Given the description of an element on the screen output the (x, y) to click on. 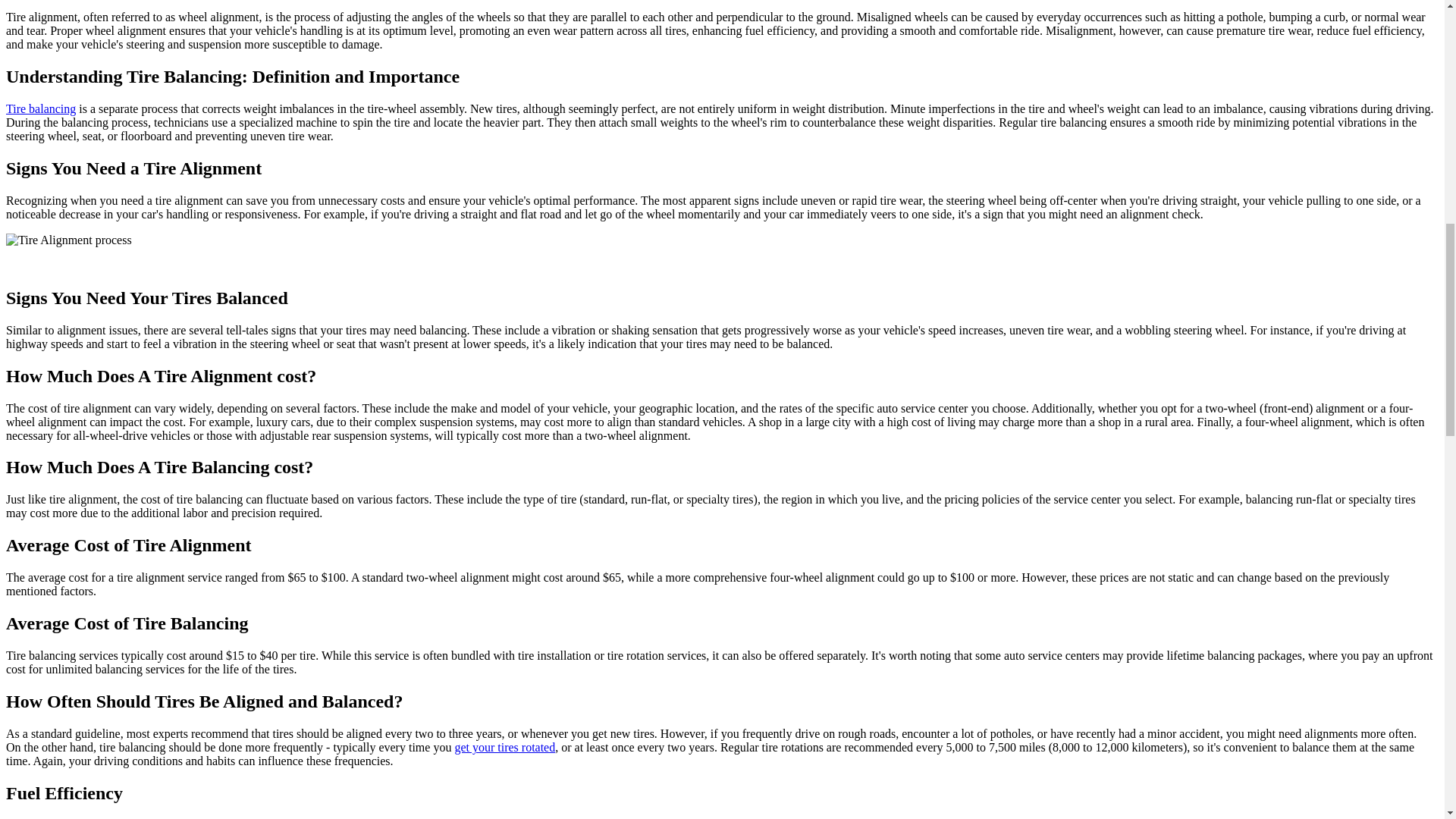
get your tires rotated (504, 747)
Tire balancing (40, 108)
